Given the description of an element on the screen output the (x, y) to click on. 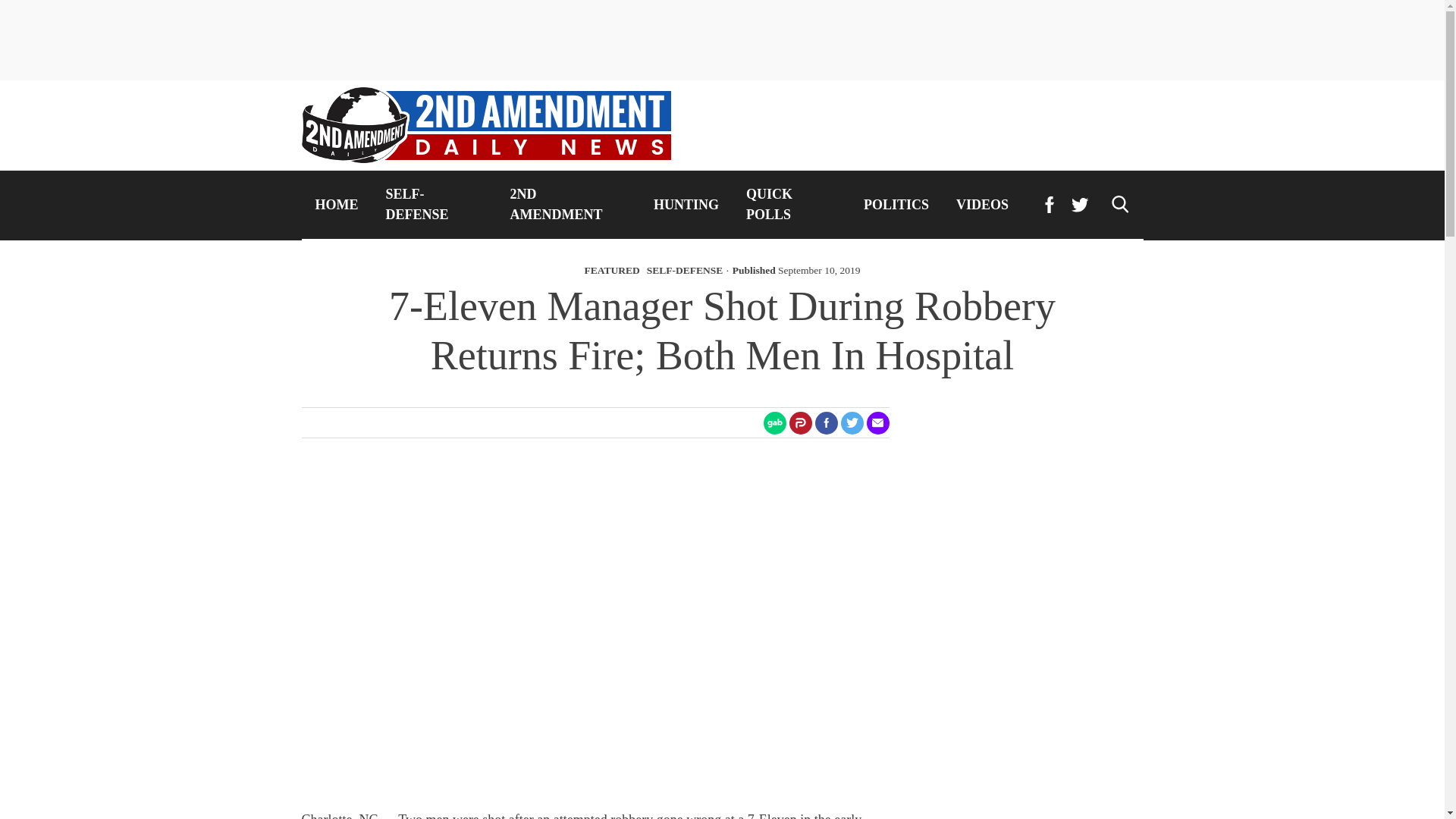
HOME (336, 204)
Share on Gab (774, 422)
HUNTING (686, 204)
QUICK POLLS (791, 204)
Share on Facebook (825, 422)
Share on Parler (799, 422)
Share via Email (877, 422)
FEATURED (612, 270)
Share on Twitter (851, 422)
2ND AMENDMENT (568, 204)
SELF-DEFENSE (433, 204)
POLITICS (896, 204)
SELF-DEFENSE (684, 270)
VIDEOS (982, 204)
